Given the description of an element on the screen output the (x, y) to click on. 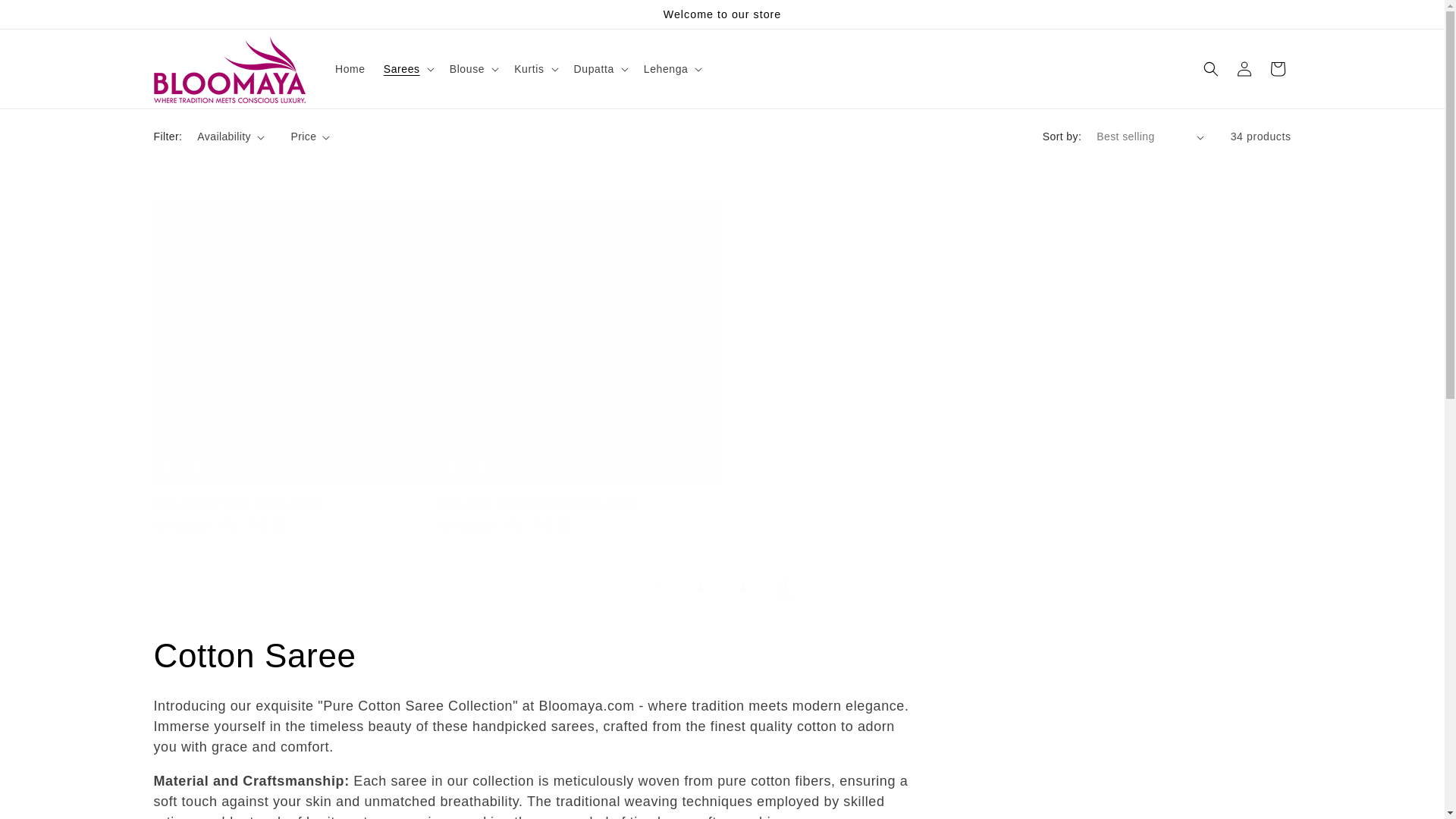
Skip to content (45, 17)
